Given the description of an element on the screen output the (x, y) to click on. 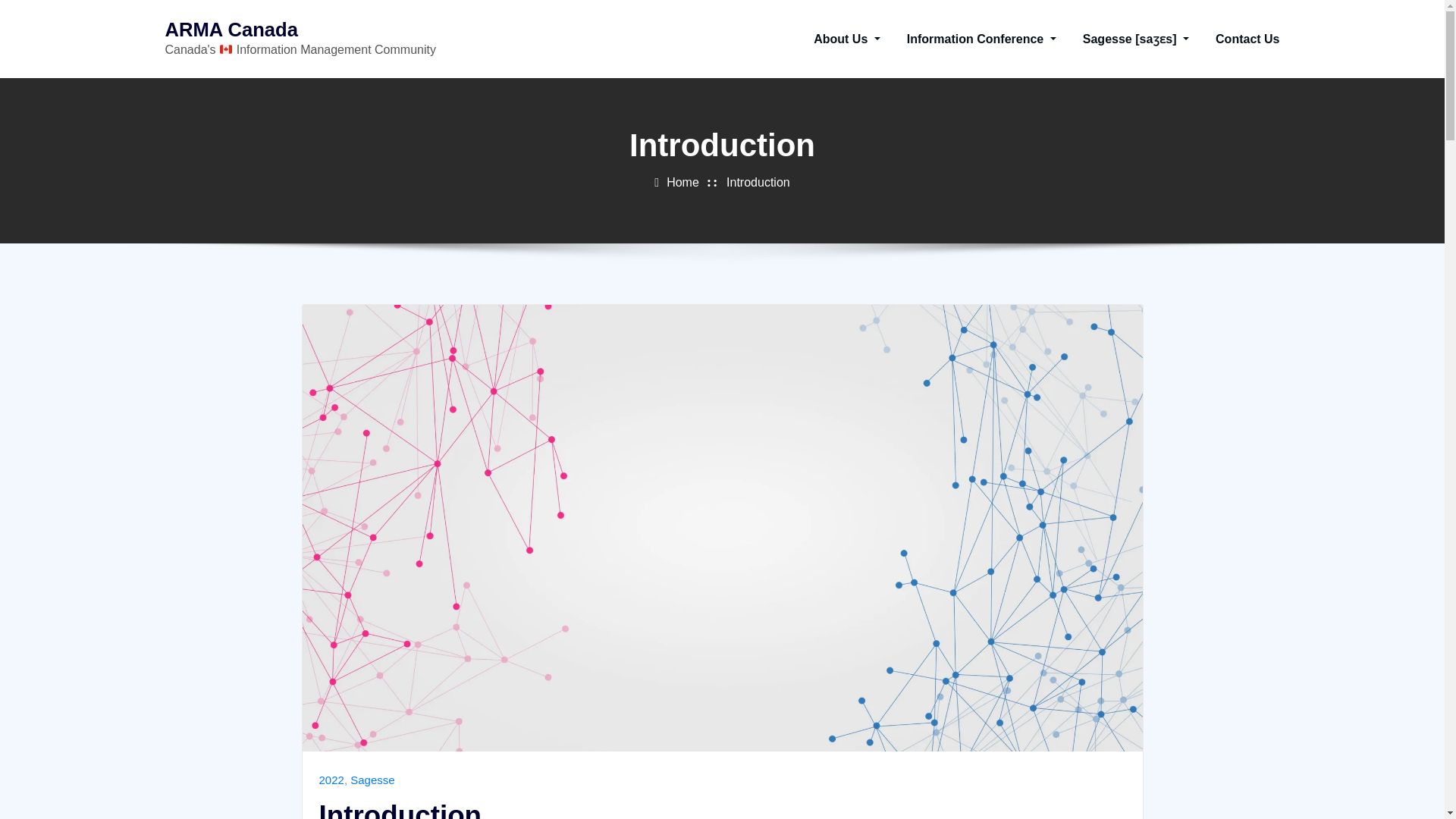
Introduction (758, 182)
2022 (330, 779)
About Us (846, 38)
Home (682, 182)
Information Conference (982, 38)
ARMA Canada (231, 29)
Sagesse (372, 779)
Contact Us (1247, 38)
